Given the description of an element on the screen output the (x, y) to click on. 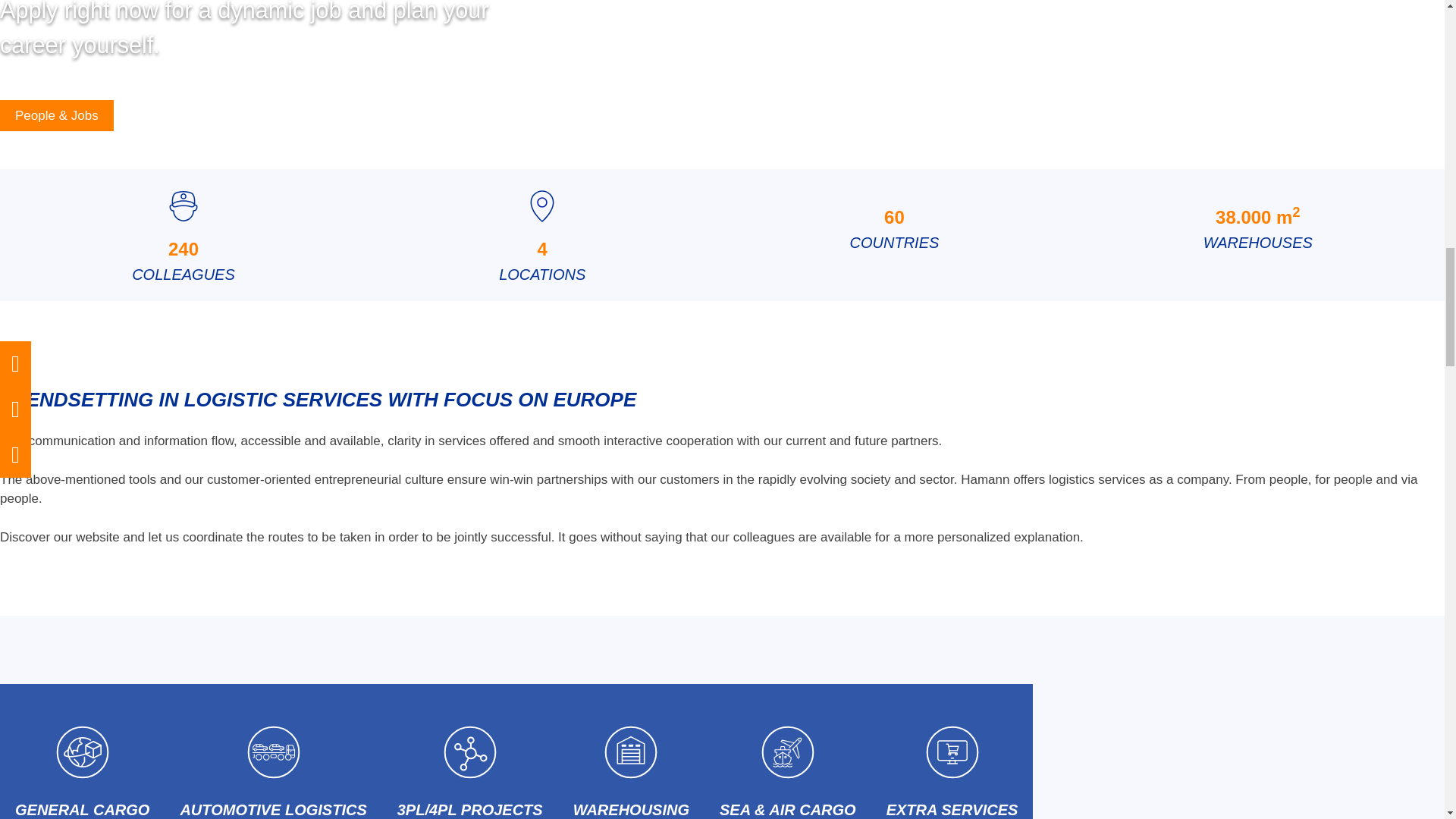
WAREHOUSING (630, 751)
AUTOMOTIVE LOGISTICS (183, 234)
GENERAL CARGO (1258, 234)
EXTRA SERVICES (272, 751)
